Given the description of an element on the screen output the (x, y) to click on. 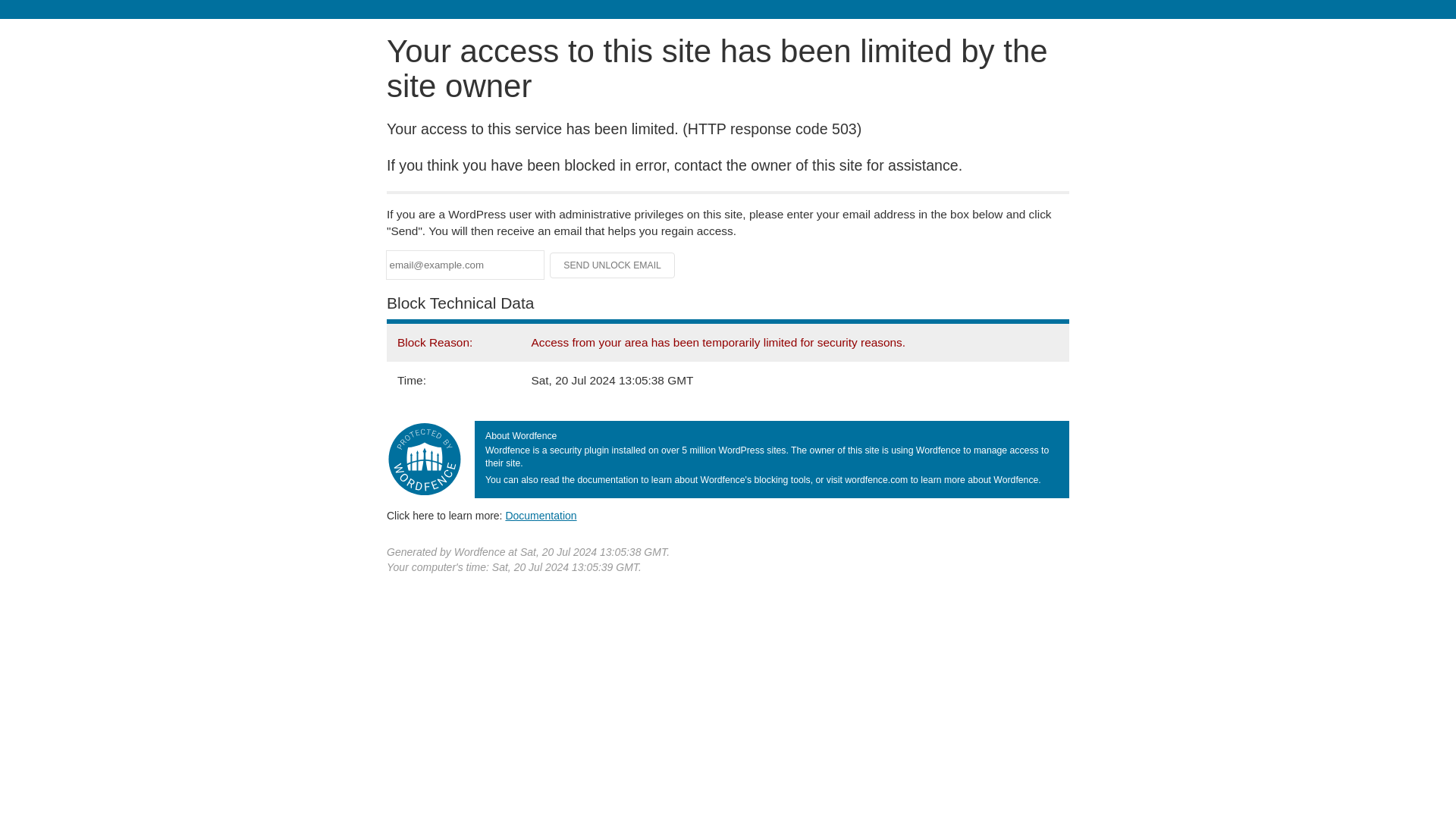
Documentation (540, 515)
Send Unlock Email (612, 265)
Send Unlock Email (612, 265)
